Given the description of an element on the screen output the (x, y) to click on. 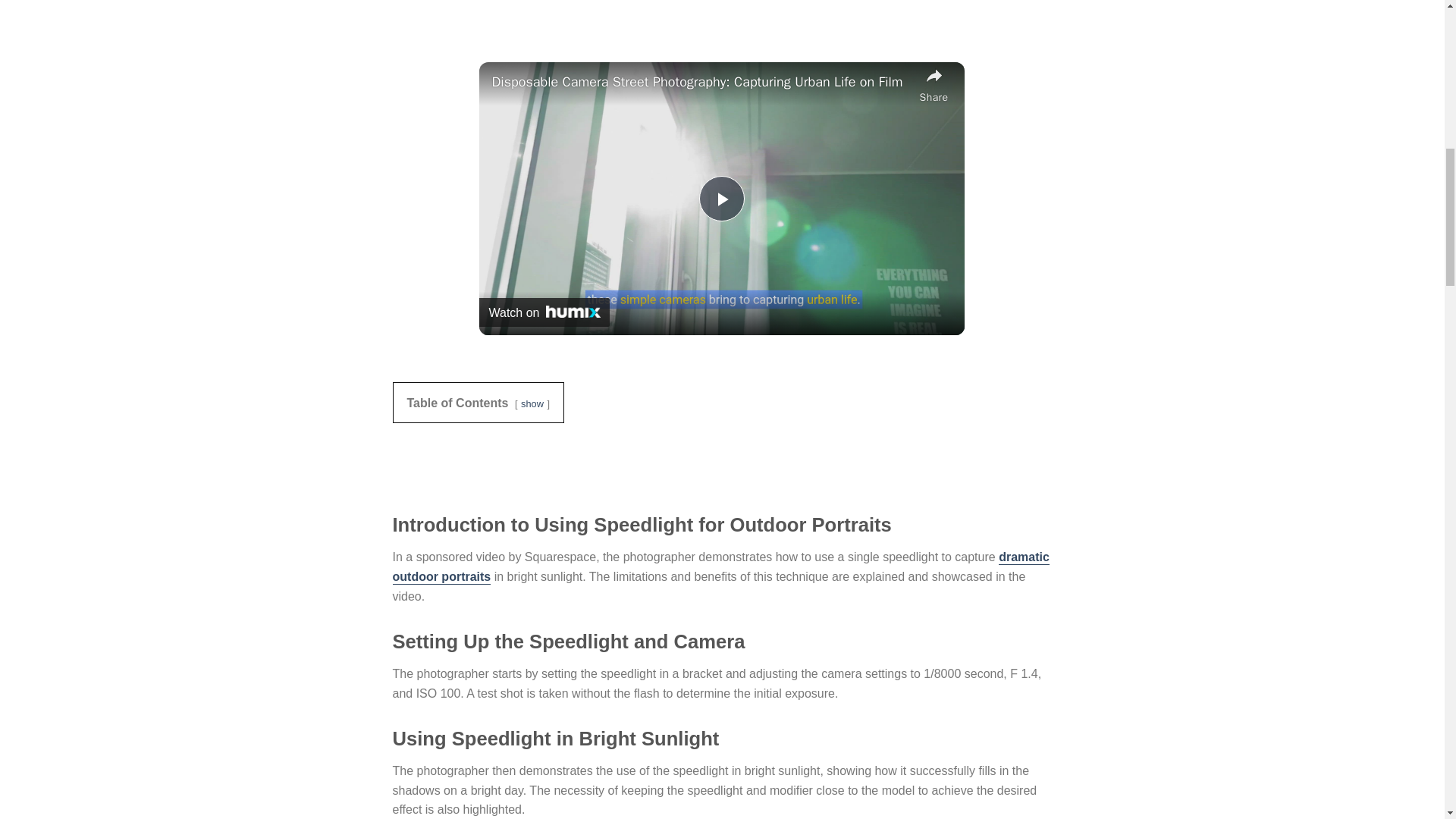
Share (934, 84)
Play Video (721, 198)
show (532, 403)
Watch on (544, 312)
Play Video (721, 198)
share (934, 84)
